Given the description of an element on the screen output the (x, y) to click on. 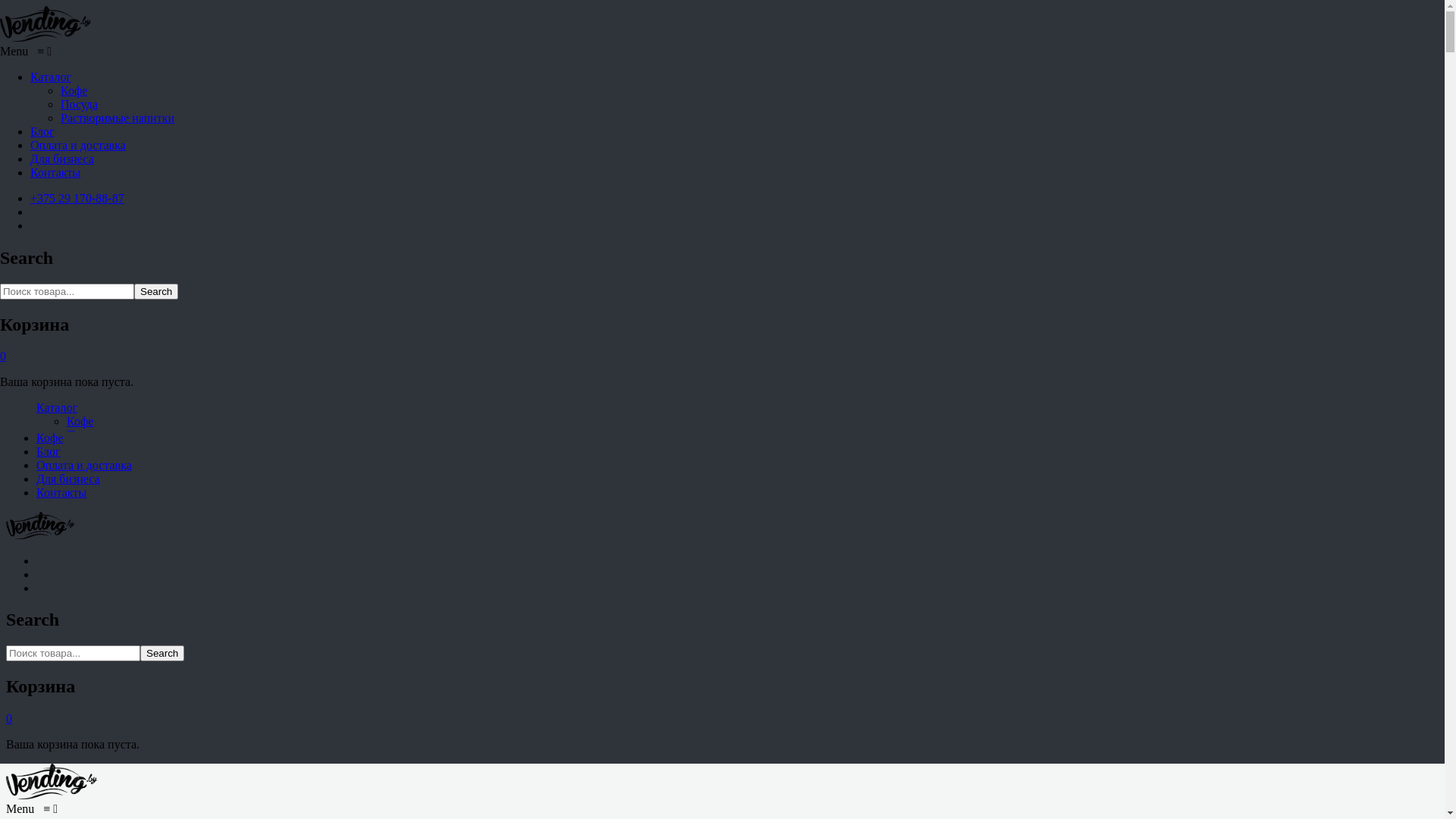
vending.by Element type: hover (51, 794)
vending.by Element type: hover (40, 534)
+375 29 170-88-87 Element type: text (77, 197)
Search Element type: text (156, 291)
Search Element type: text (162, 653)
0 Element type: text (3, 355)
vending.by Element type: hover (45, 37)
0 Element type: text (9, 718)
